Given the description of an element on the screen output the (x, y) to click on. 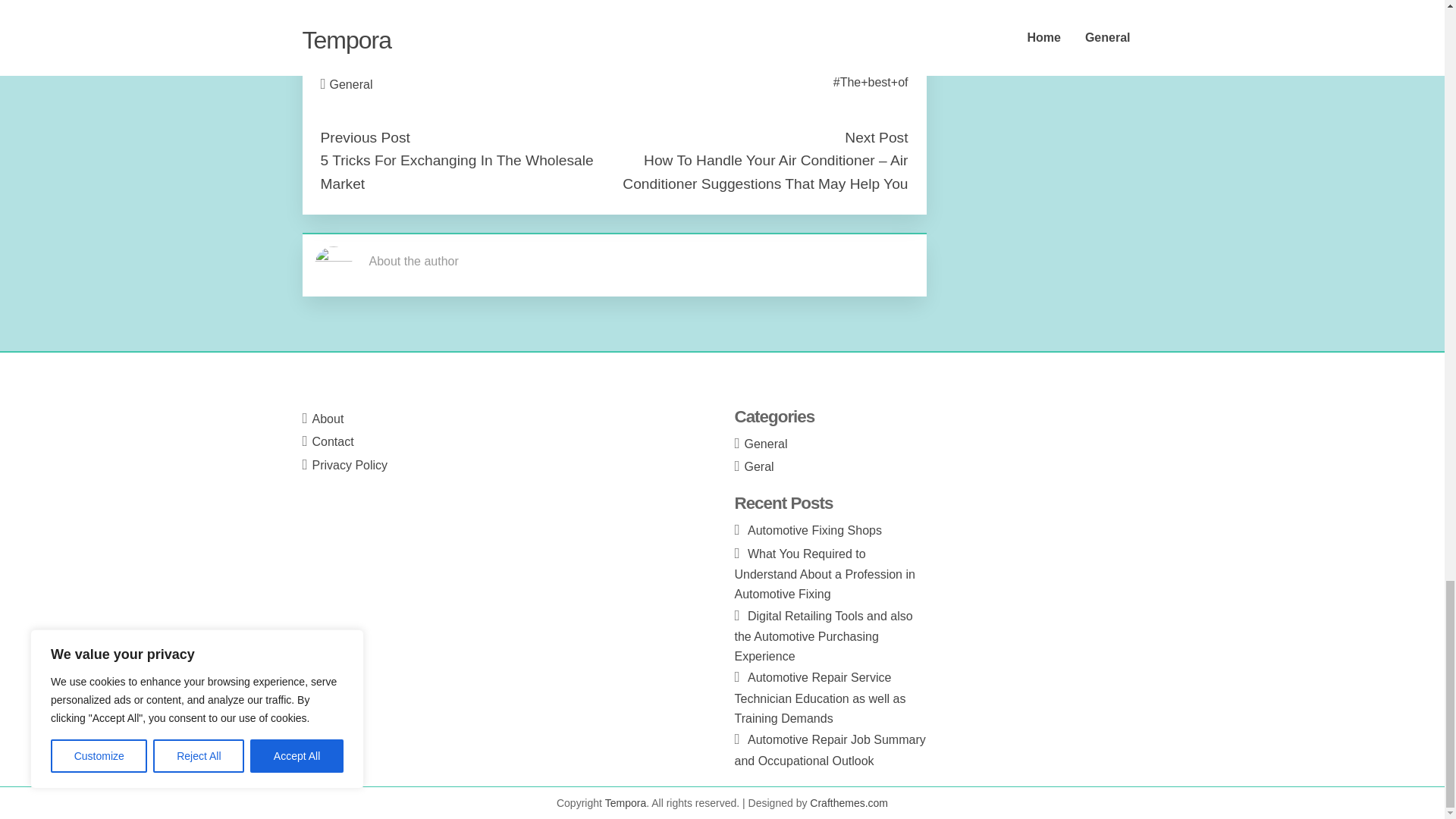
Previous Post (364, 137)
Next Post (875, 137)
General (351, 83)
visit the website (363, 31)
5 Tricks For Exchanging In The Wholesale Market (456, 171)
